Given the description of an element on the screen output the (x, y) to click on. 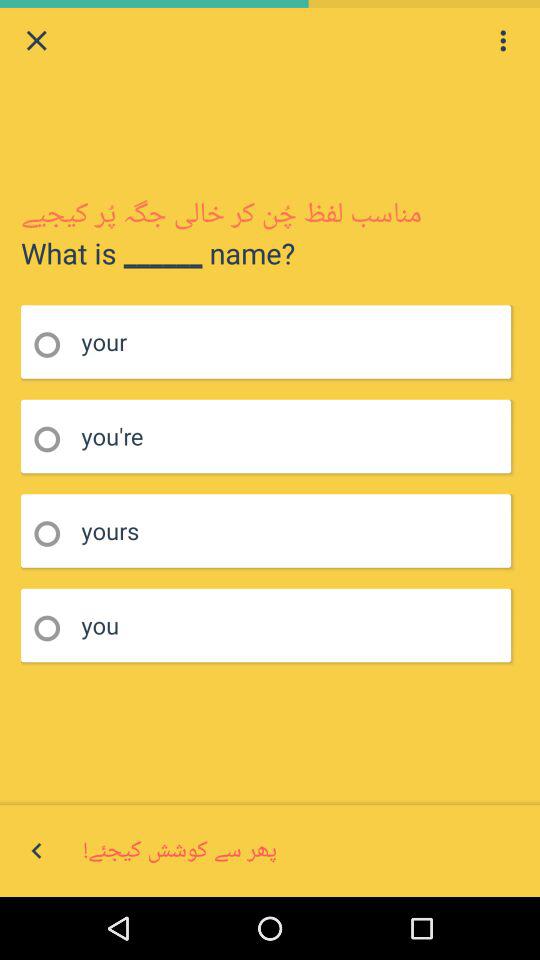
answer option (53, 533)
